Given the description of an element on the screen output the (x, y) to click on. 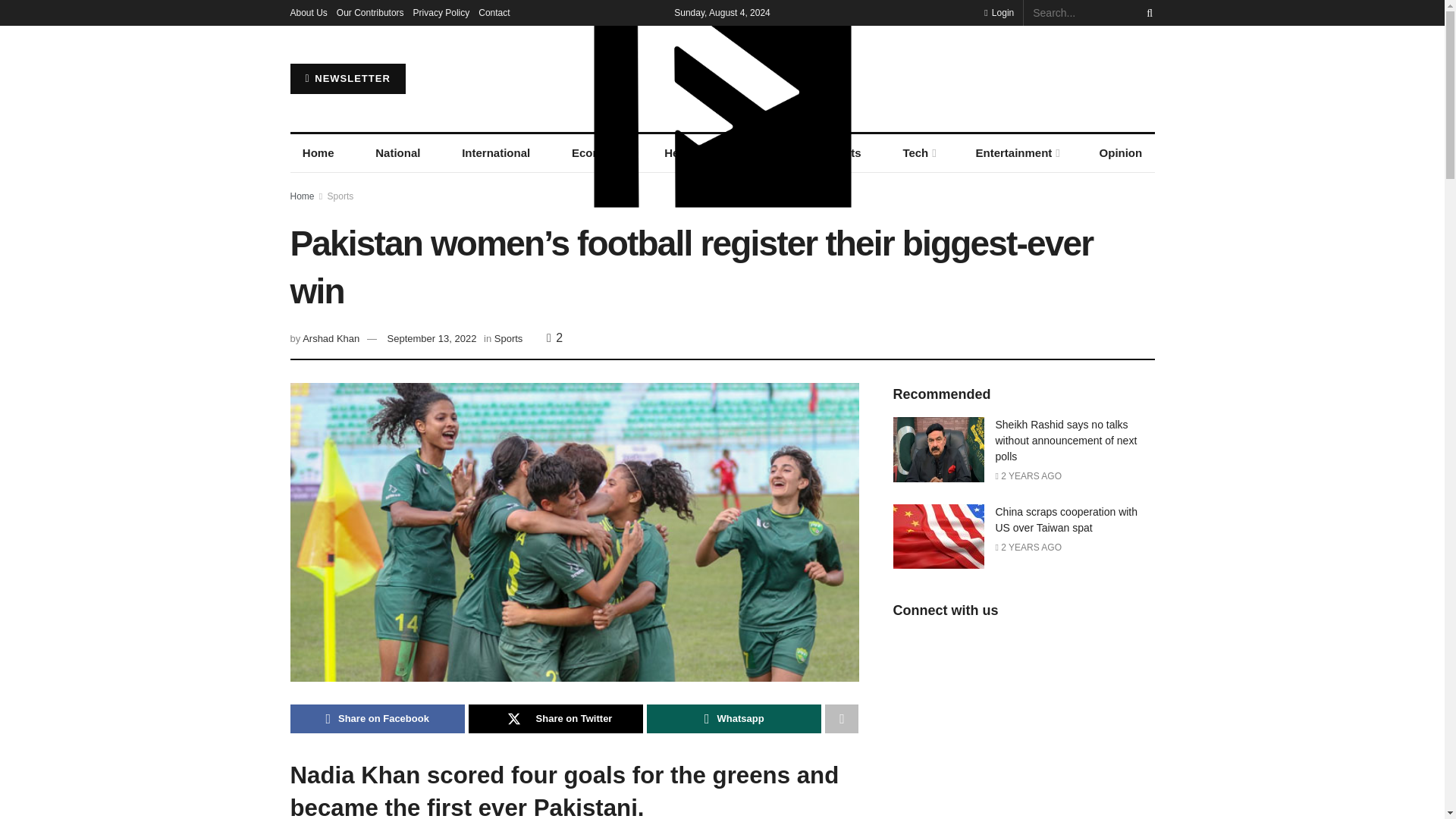
Entertainment (1016, 152)
International (496, 152)
Science (761, 152)
Home (317, 152)
Our Contributors (370, 12)
Health (681, 152)
Contact (494, 12)
NEWSLETTER (346, 78)
Tech (917, 152)
National (397, 152)
